Given the description of an element on the screen output the (x, y) to click on. 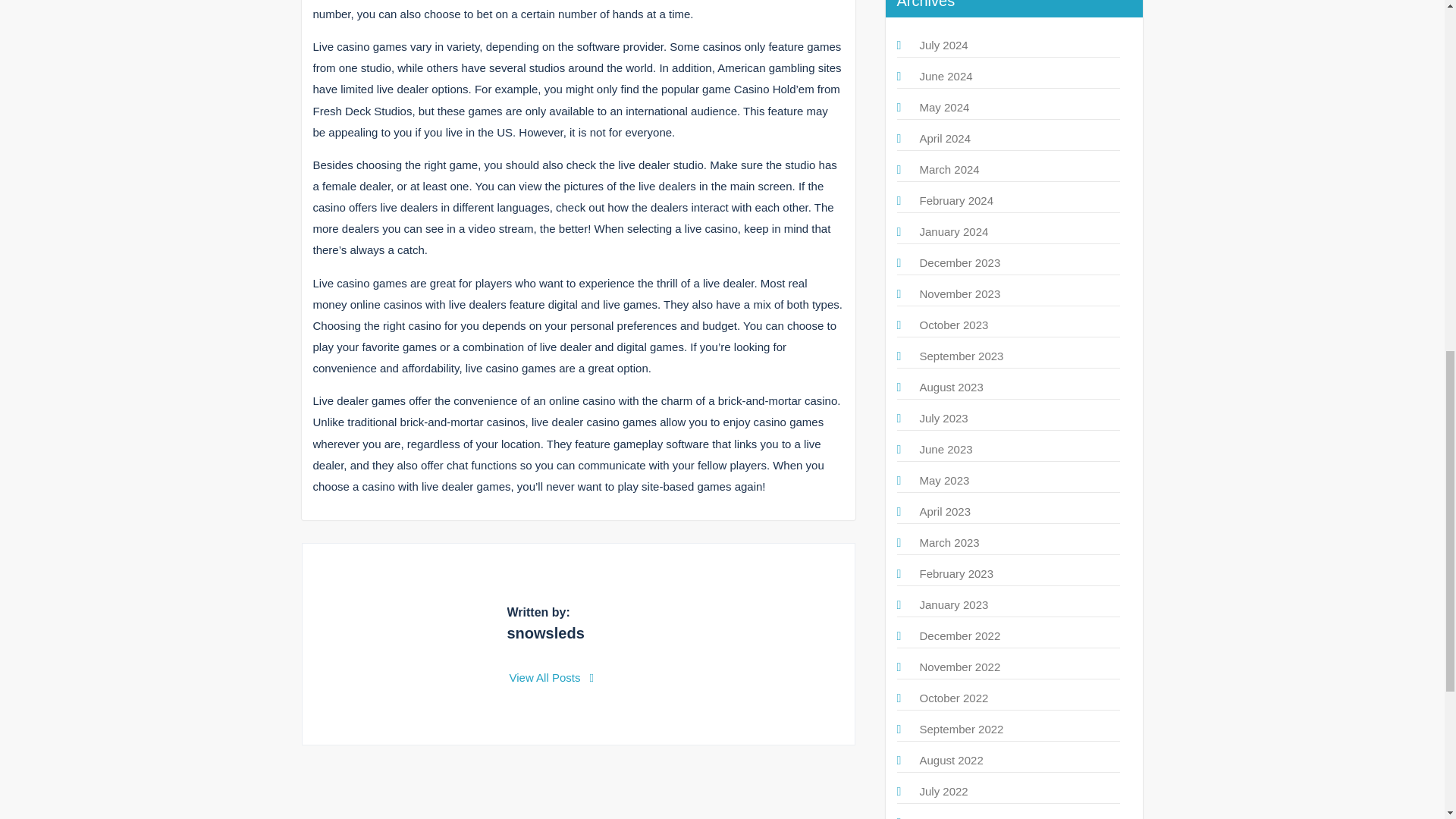
December 2023 (959, 262)
July 2024 (943, 44)
March 2024 (948, 169)
August 2023 (950, 386)
April 2024 (944, 137)
December 2022 (959, 635)
June 2022 (945, 817)
July 2022 (943, 790)
January 2024 (953, 231)
January 2023 (953, 604)
October 2022 (953, 697)
November 2023 (959, 293)
September 2022 (960, 728)
May 2024 (943, 106)
April 2023 (944, 511)
